Given the description of an element on the screen output the (x, y) to click on. 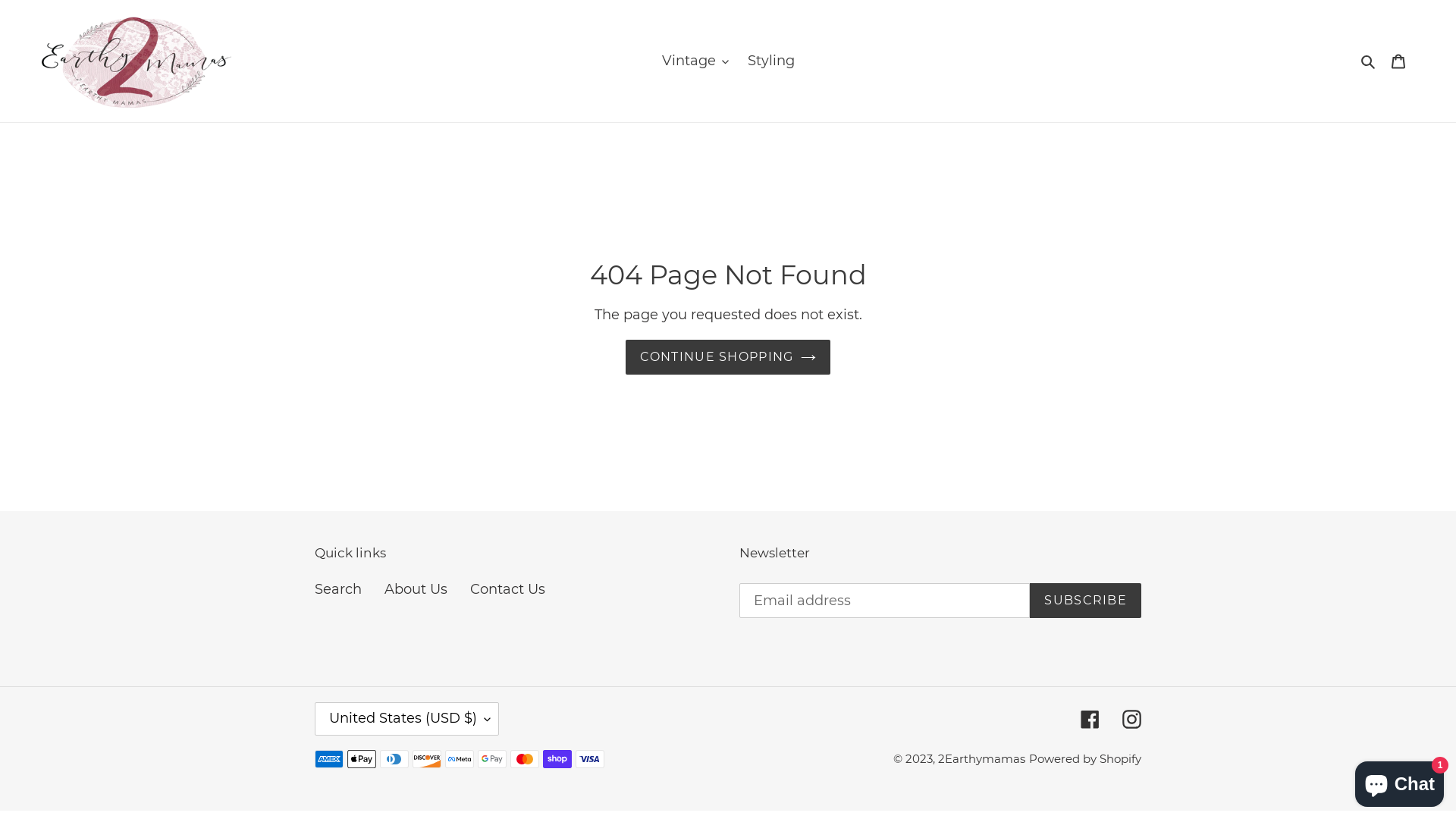
Shopify online store chat Element type: hover (1399, 780)
Search Element type: text (337, 588)
Styling Element type: text (771, 60)
CONTINUE SHOPPING Element type: text (728, 356)
Cart Element type: text (1398, 60)
Powered by Shopify Element type: text (1085, 758)
Search Element type: text (1368, 61)
Facebook Element type: text (1089, 718)
Vintage Element type: text (694, 60)
Contact Us Element type: text (507, 588)
Instagram Element type: text (1131, 718)
About Us Element type: text (415, 588)
United States (USD $) Element type: text (406, 718)
SUBSCRIBE Element type: text (1085, 600)
2Earthymamas Element type: text (981, 758)
